Given the description of an element on the screen output the (x, y) to click on. 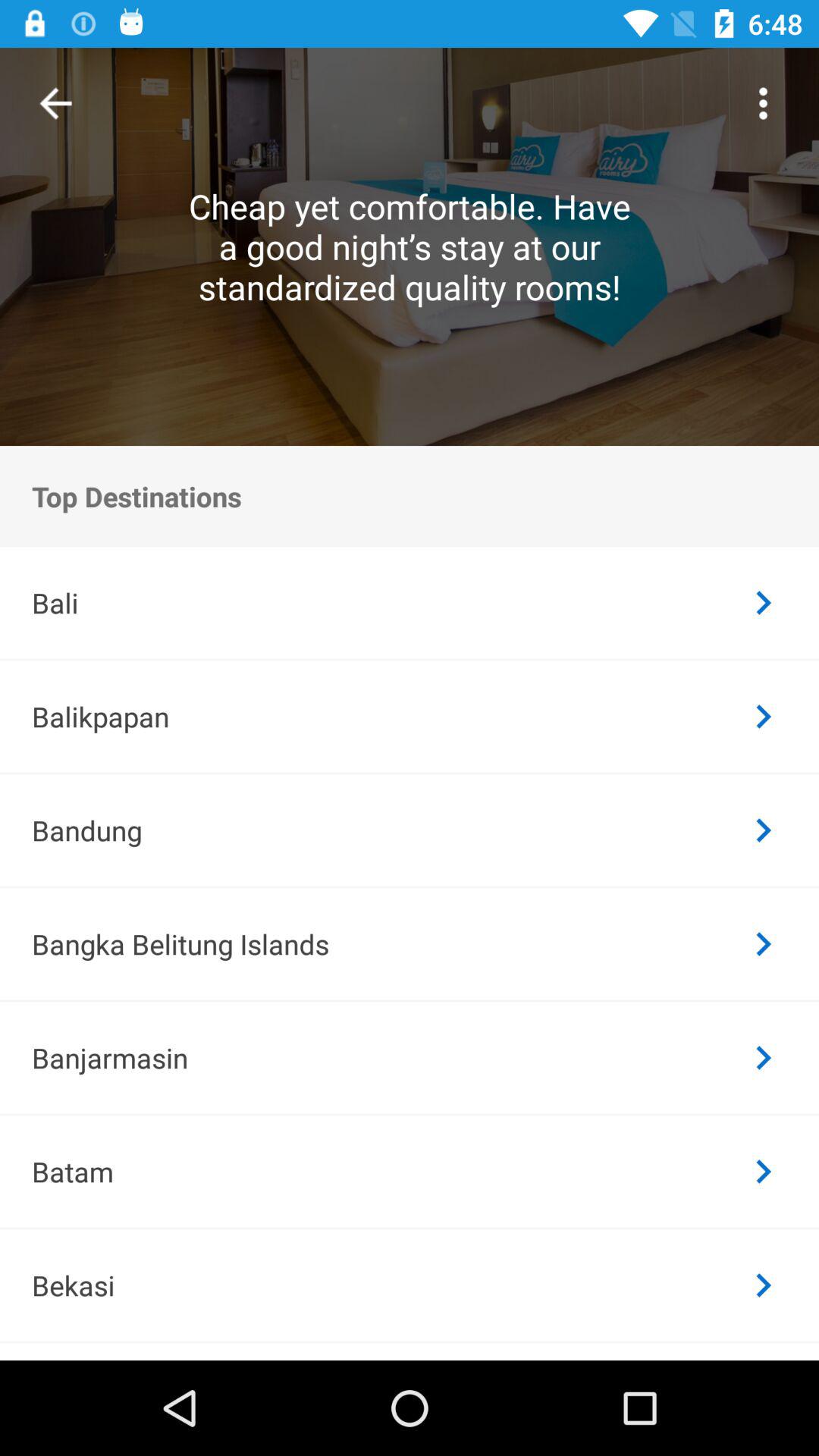
tap the item to the right of cheap yet comfortable item (763, 103)
